Given the description of an element on the screen output the (x, y) to click on. 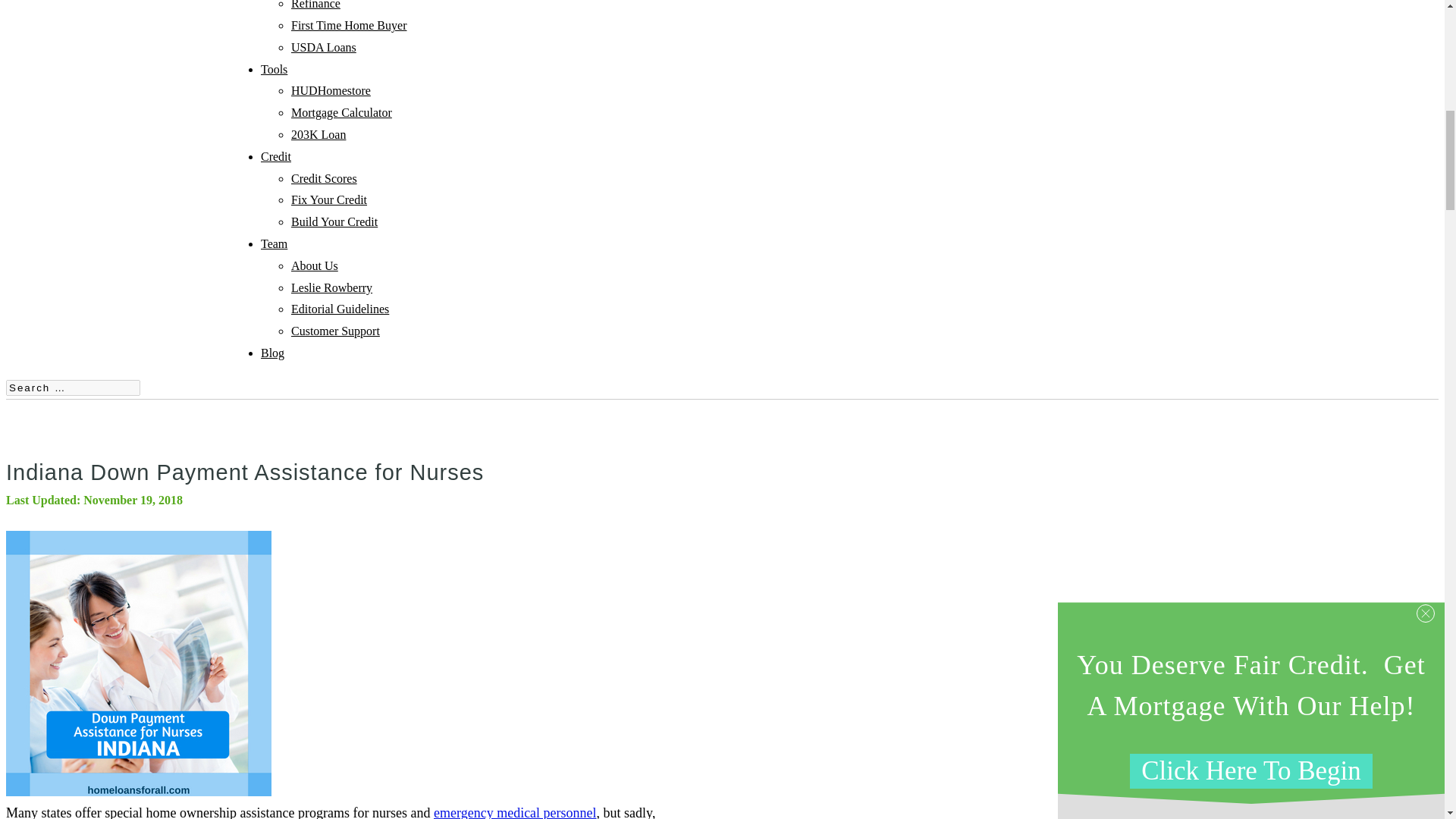
HUD Home and HUDHomestore Guide (331, 90)
203K Loan (318, 133)
Mortgage Calculator (341, 112)
First Time Home Buyer (348, 24)
Credit Score Requirements (275, 155)
FHA 203K Loan Guide (318, 133)
USDA Loans (323, 47)
Tools (273, 69)
HUDHomestore (331, 90)
Mortgage Refinance (315, 4)
First Time Home Buyer Programs (348, 24)
Refinance (315, 4)
